Given the description of an element on the screen output the (x, y) to click on. 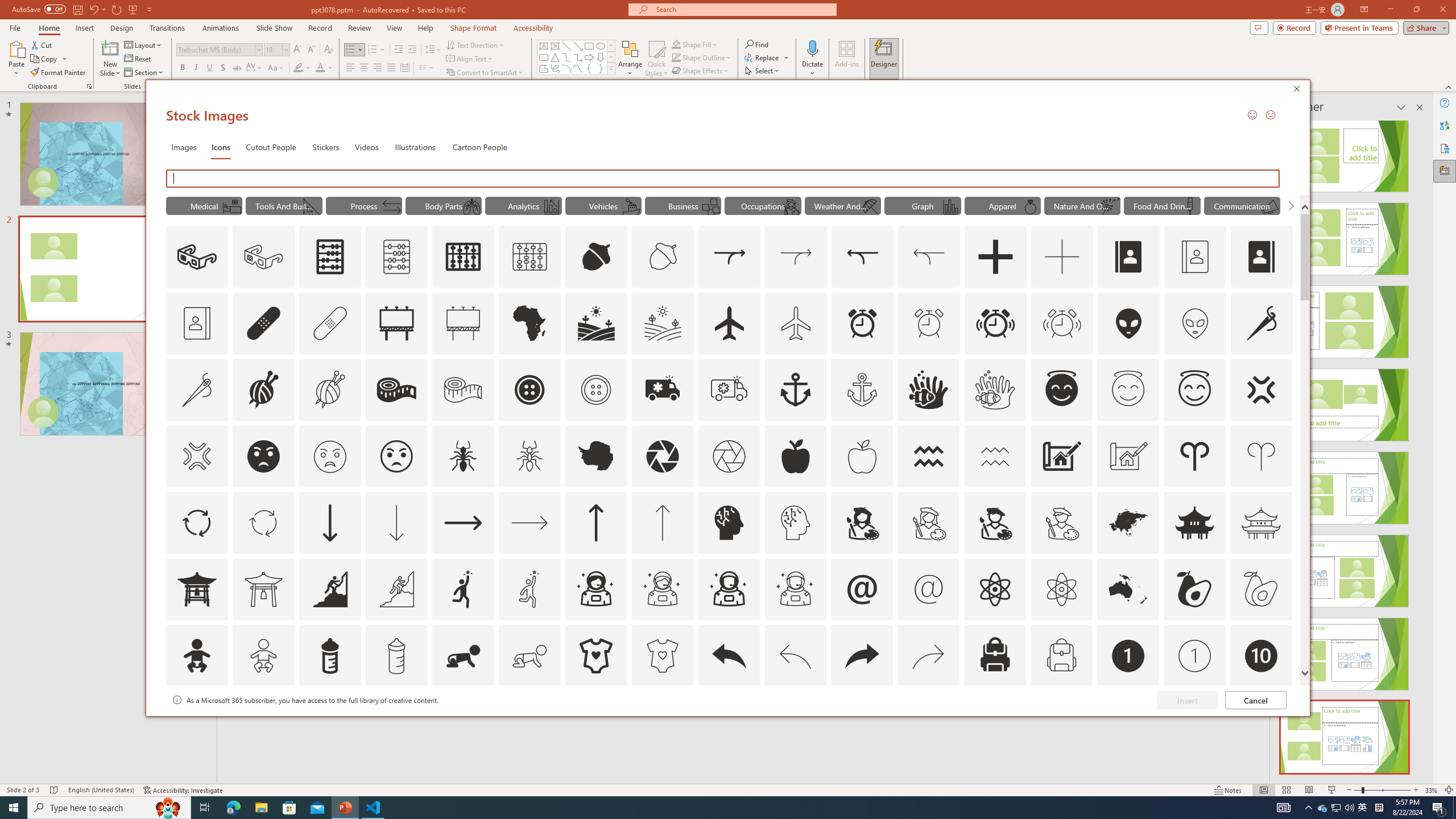
AutomationID: Icons (1260, 721)
Send a Smile (1251, 114)
AutomationID: Icons_BeachUmbrella_M (870, 206)
